Given the description of an element on the screen output the (x, y) to click on. 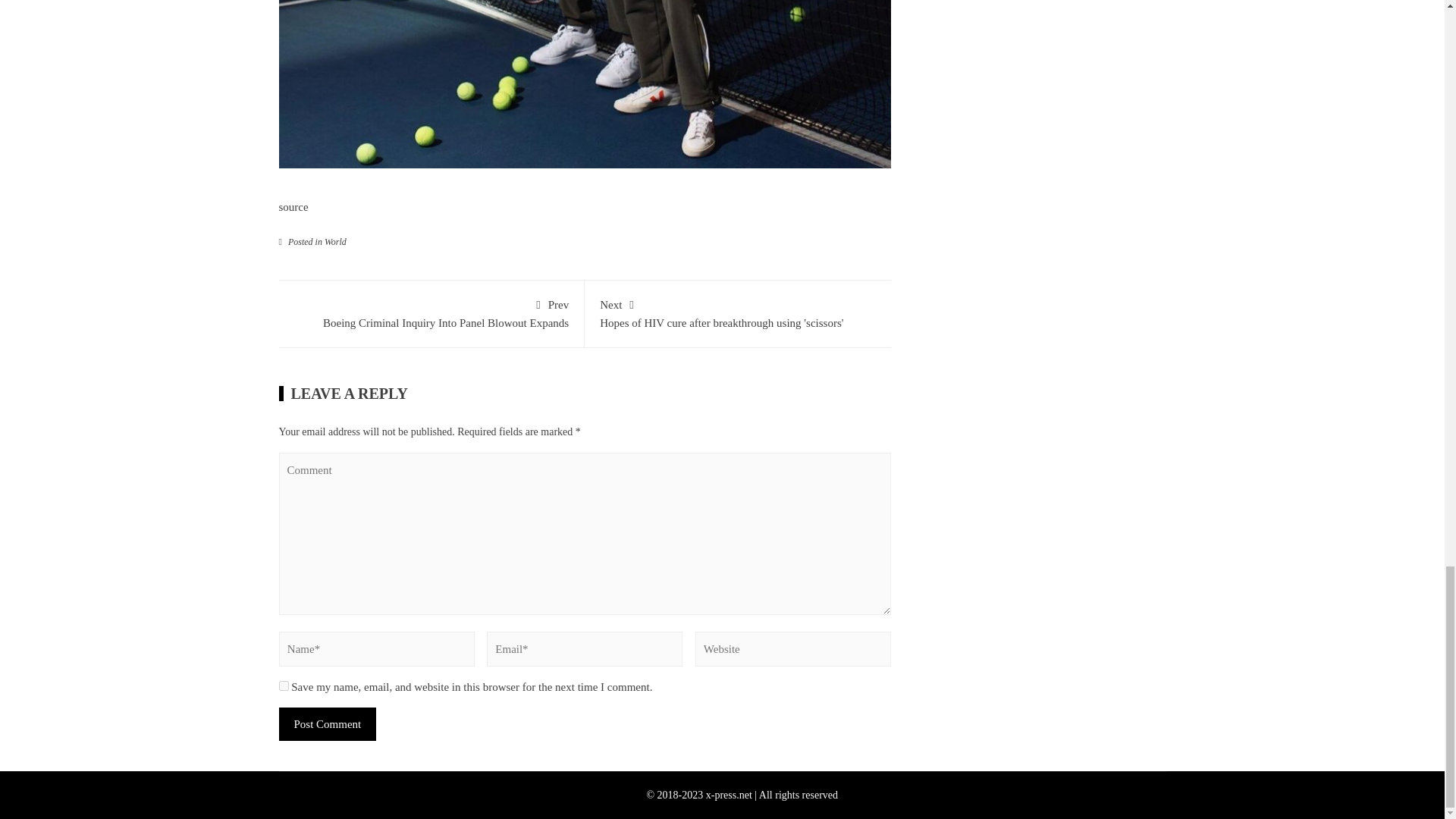
Post Comment (737, 312)
yes (328, 724)
World (431, 312)
Post Comment (283, 685)
source (335, 241)
